Given the description of an element on the screen output the (x, y) to click on. 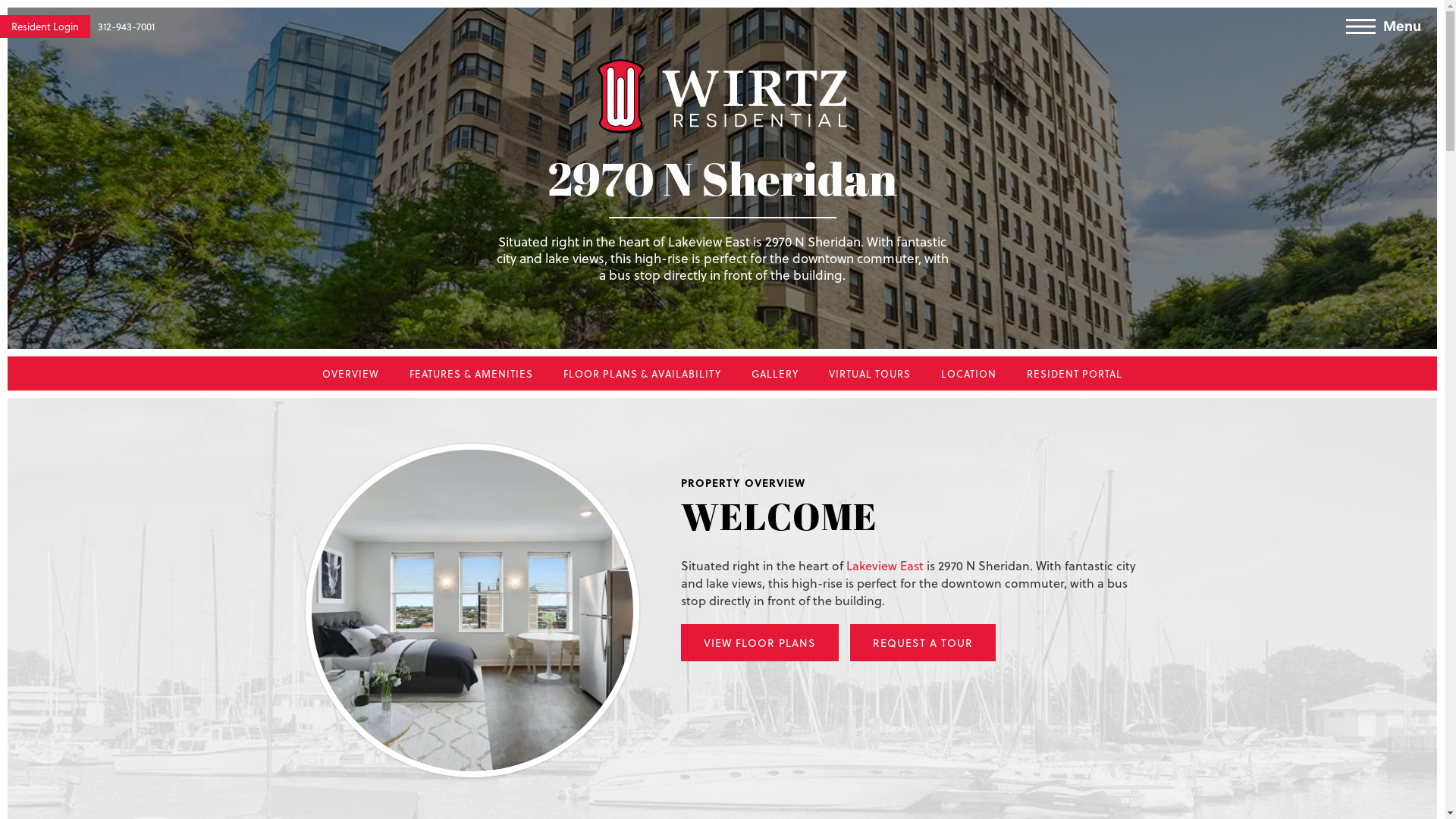
FEATURES & AMENITIES Element type: text (471, 373)
Lakeview East Element type: text (884, 565)
FLOOR PLANS & AVAILABILITY Element type: text (642, 373)
VIRTUAL TOURS Element type: text (869, 373)
Menu Element type: text (1391, 30)
RESIDENT PORTAL Element type: text (1074, 373)
VIEW FLOOR PLANS Element type: text (759, 642)
Resident Login Element type: text (45, 26)
GALLERY Element type: text (774, 373)
OVERVIEW Element type: text (350, 373)
LOCATION Element type: text (968, 373)
312-943-7001 Element type: text (125, 25)
REQUEST A TOUR Element type: text (921, 642)
